Given the description of an element on the screen output the (x, y) to click on. 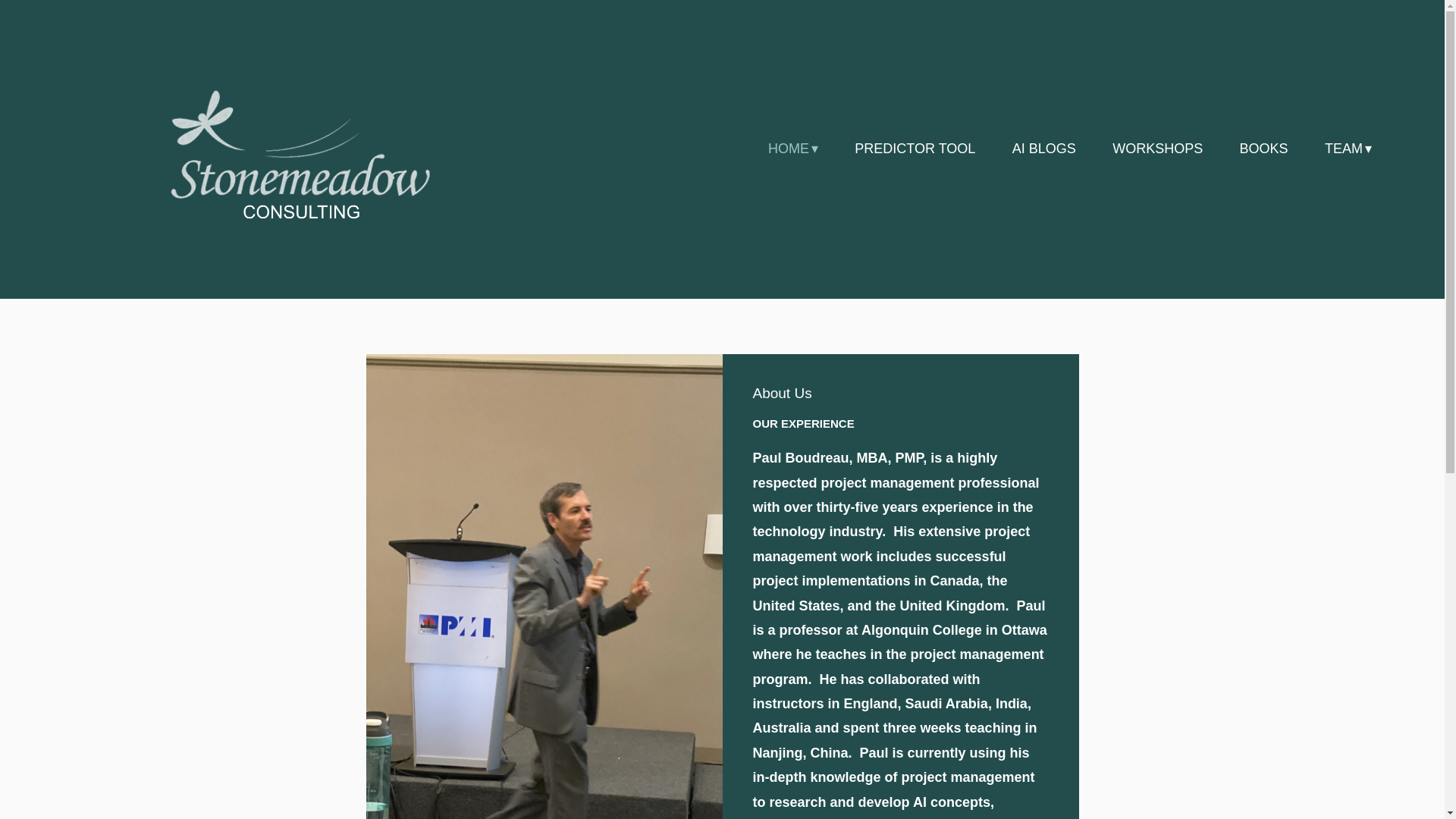
WORKSHOPS (1157, 149)
HOME (793, 149)
PREDICTOR TOOL (914, 149)
BOOKS (1264, 149)
AI BLOGS (1043, 149)
TEAM (1347, 149)
